Given the description of an element on the screen output the (x, y) to click on. 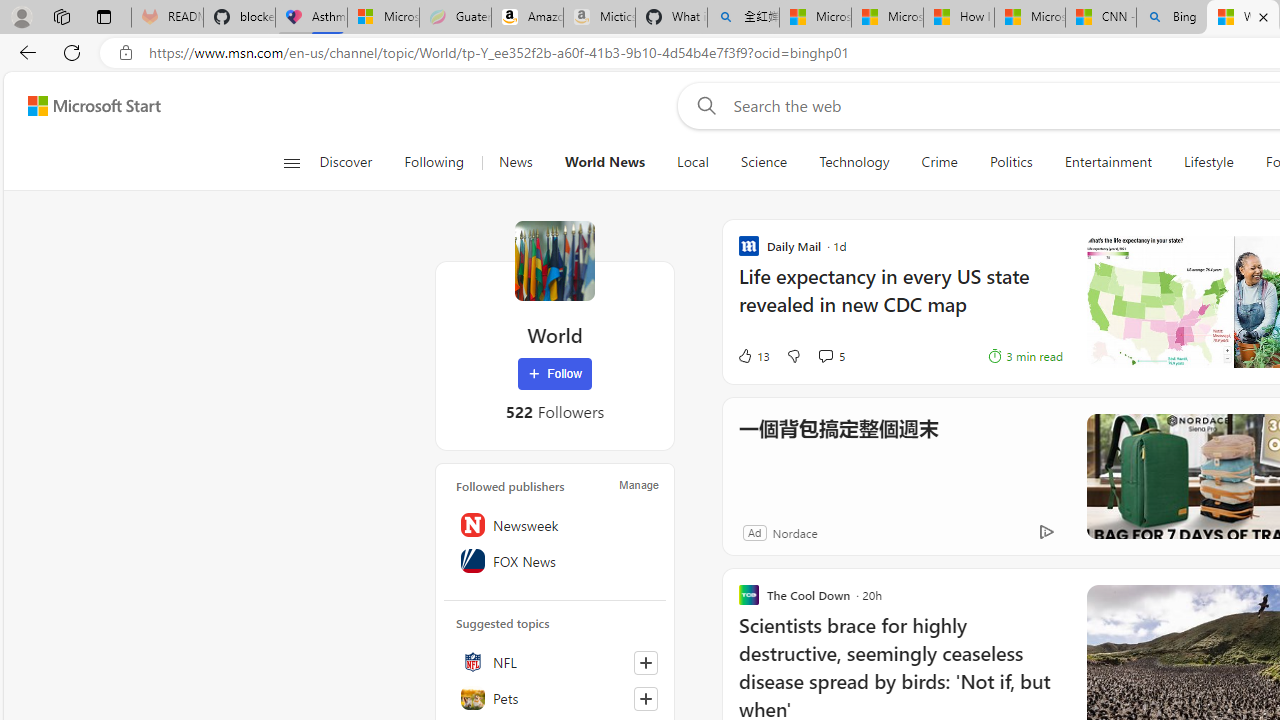
Crime (939, 162)
Web search (702, 105)
World News (604, 162)
Follow this topic (645, 698)
Manage (639, 484)
Technology (854, 162)
Local (692, 162)
